Given the description of an element on the screen output the (x, y) to click on. 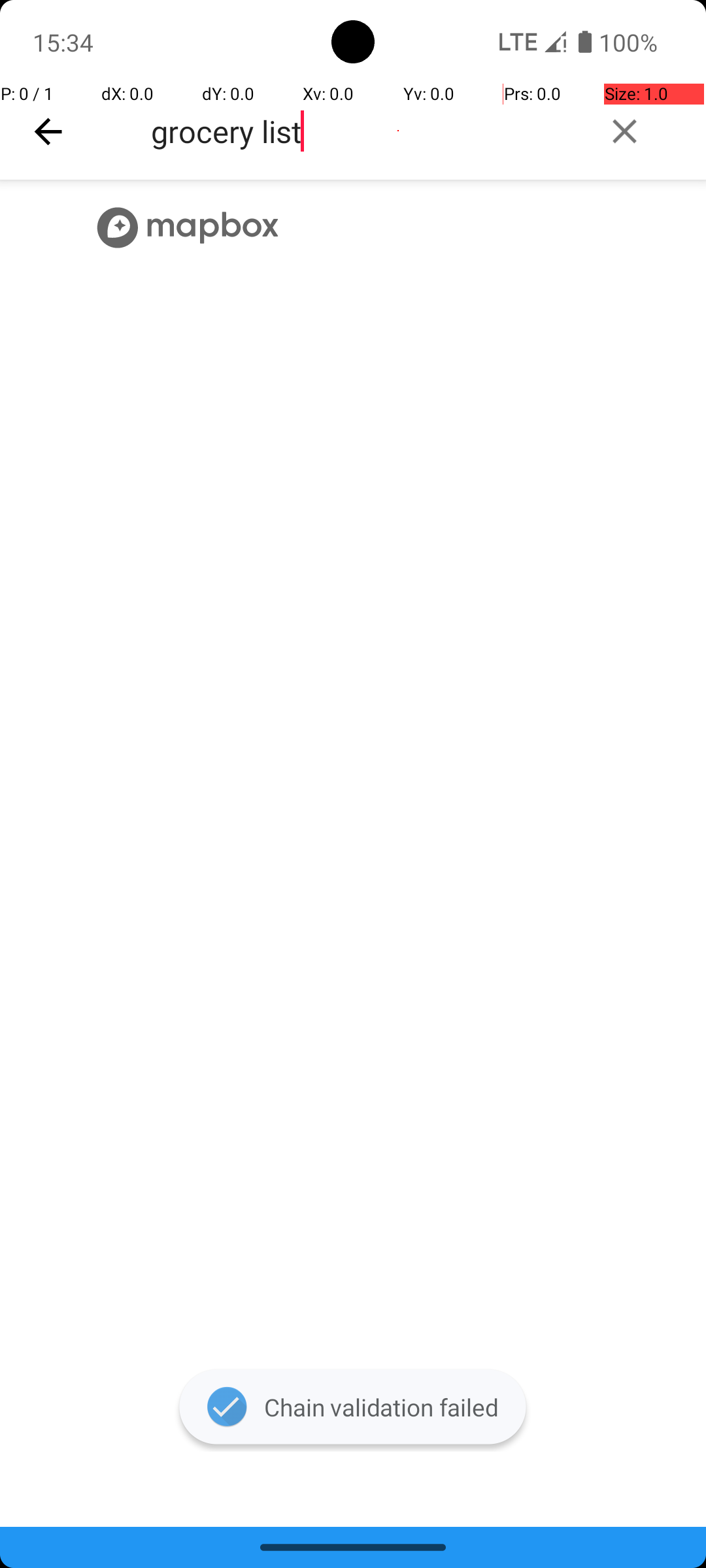
grocery list Element type: android.widget.AutoCompleteTextView (363, 130)
